Given the description of an element on the screen output the (x, y) to click on. 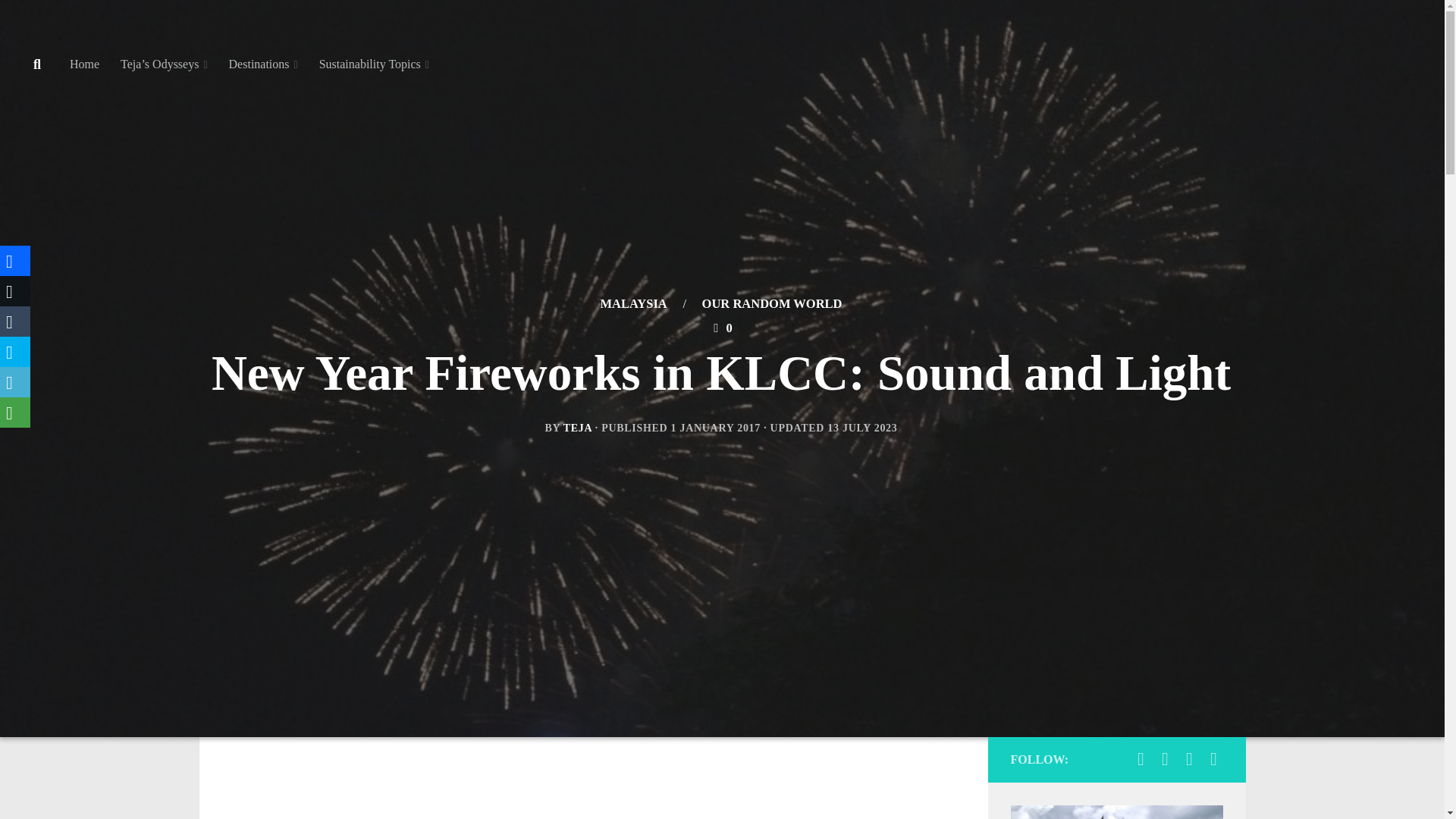
Join the Horizon (1140, 759)
Will You Look Twice? (1164, 759)
Home (84, 64)
Destinations (263, 64)
Posts by Teja (577, 428)
Below content (56, 20)
